Given the description of an element on the screen output the (x, y) to click on. 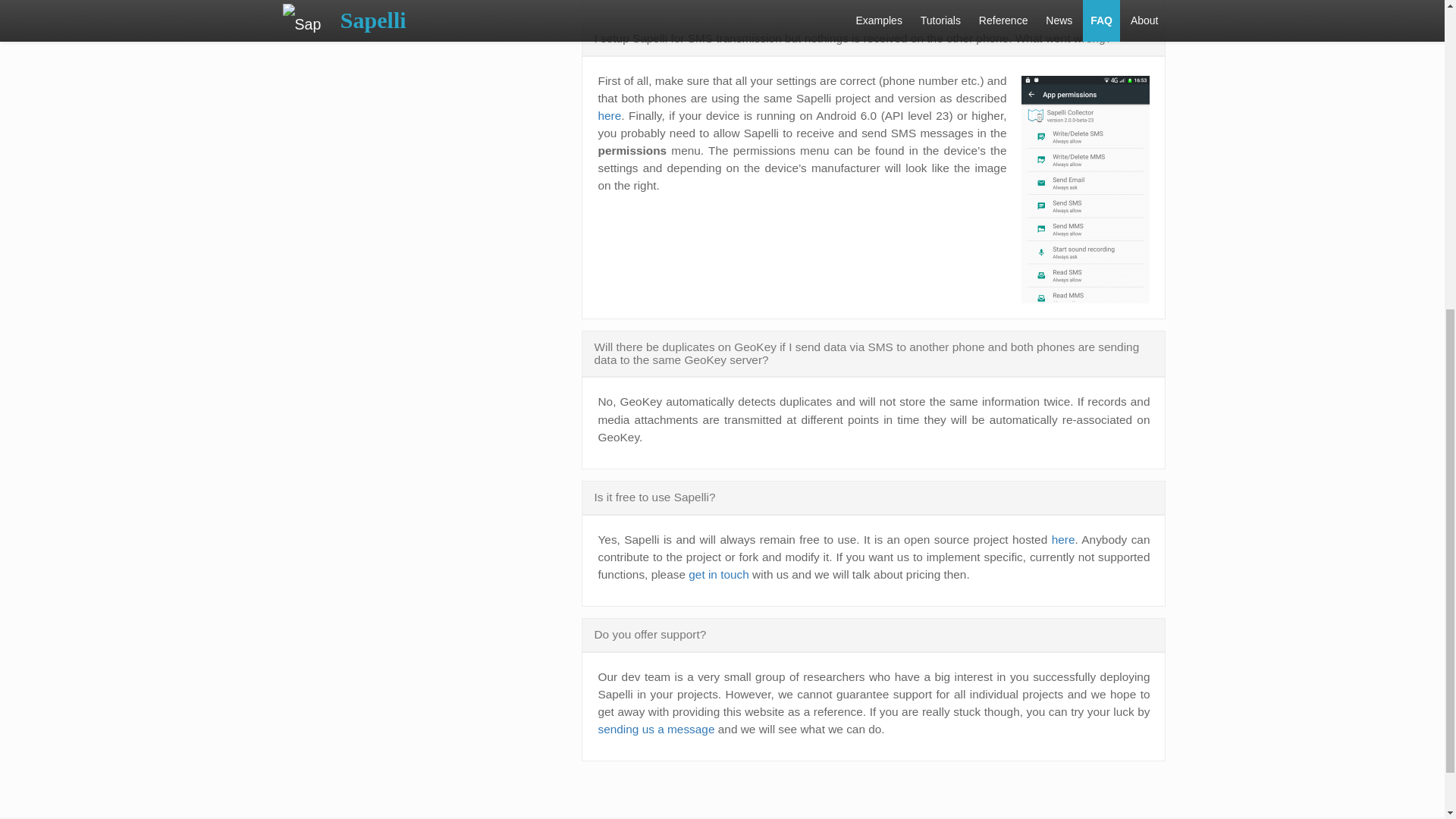
get in touch (718, 574)
here (1063, 539)
here (608, 115)
sending us a message (655, 728)
